Given the description of an element on the screen output the (x, y) to click on. 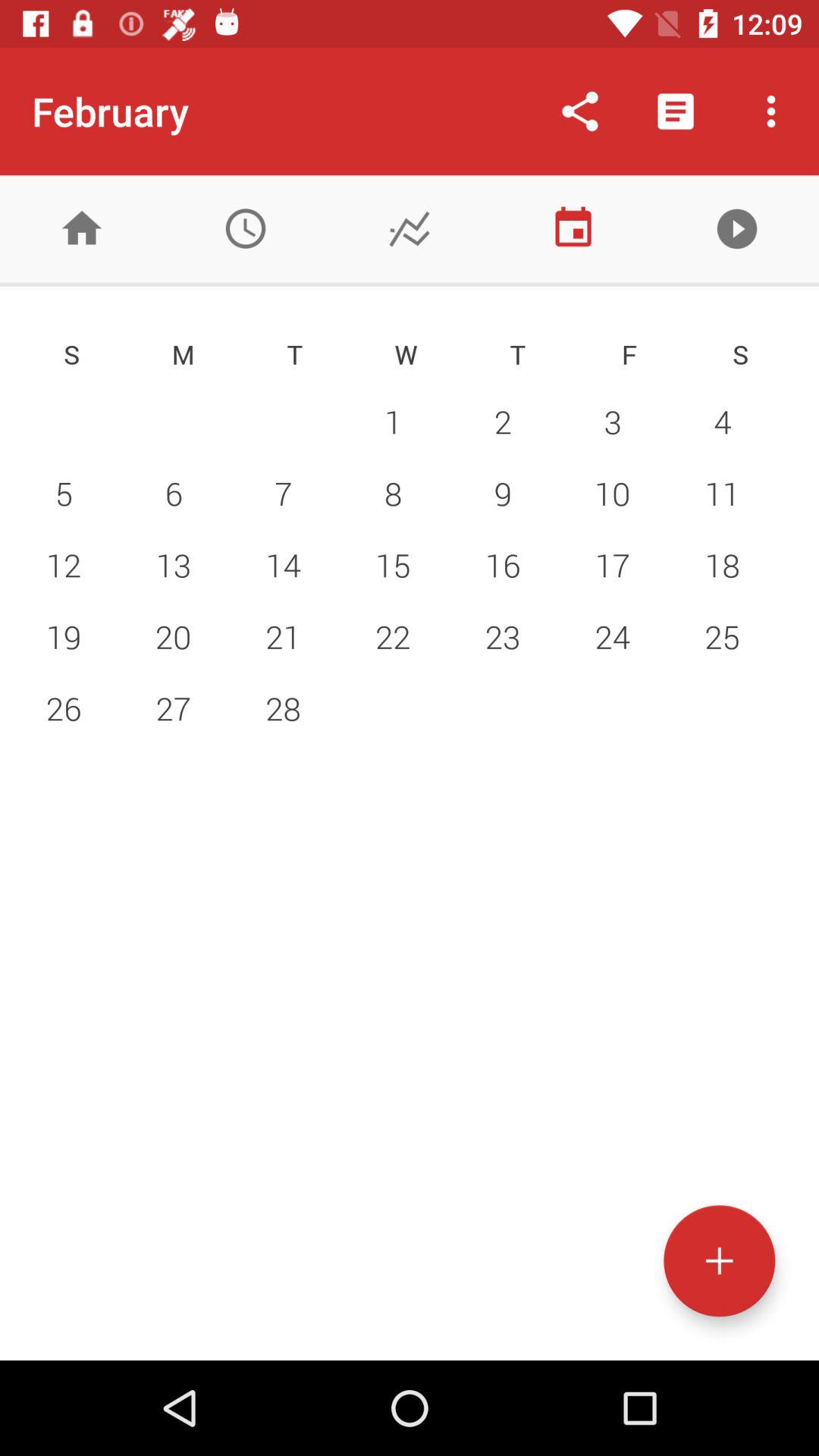
go to clock/time (245, 228)
